Given the description of an element on the screen output the (x, y) to click on. 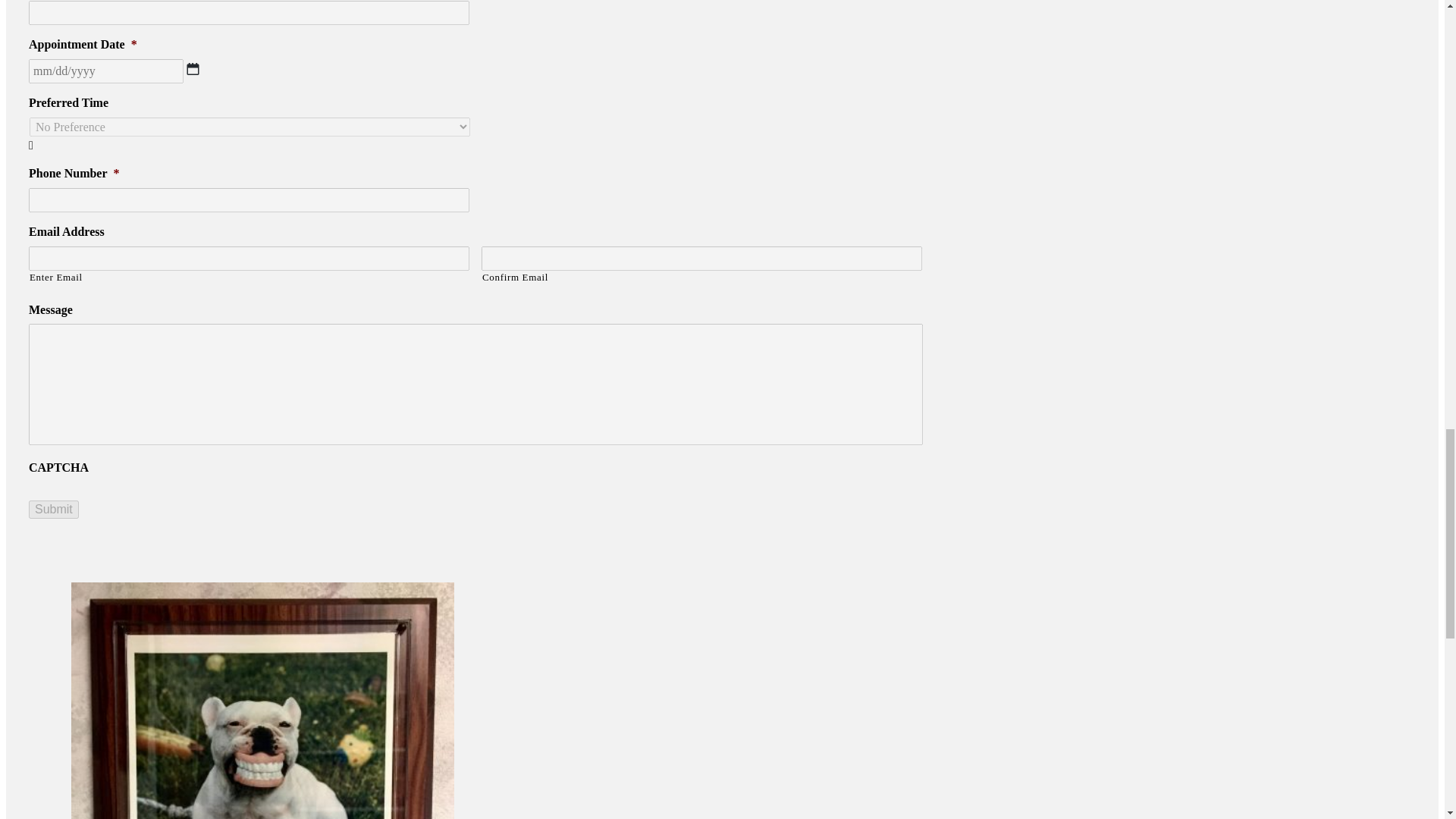
Select date (192, 69)
Submit (53, 509)
Beacon Square Dentistry Smiling Pup (262, 700)
Submit (53, 509)
